Given the description of an element on the screen output the (x, y) to click on. 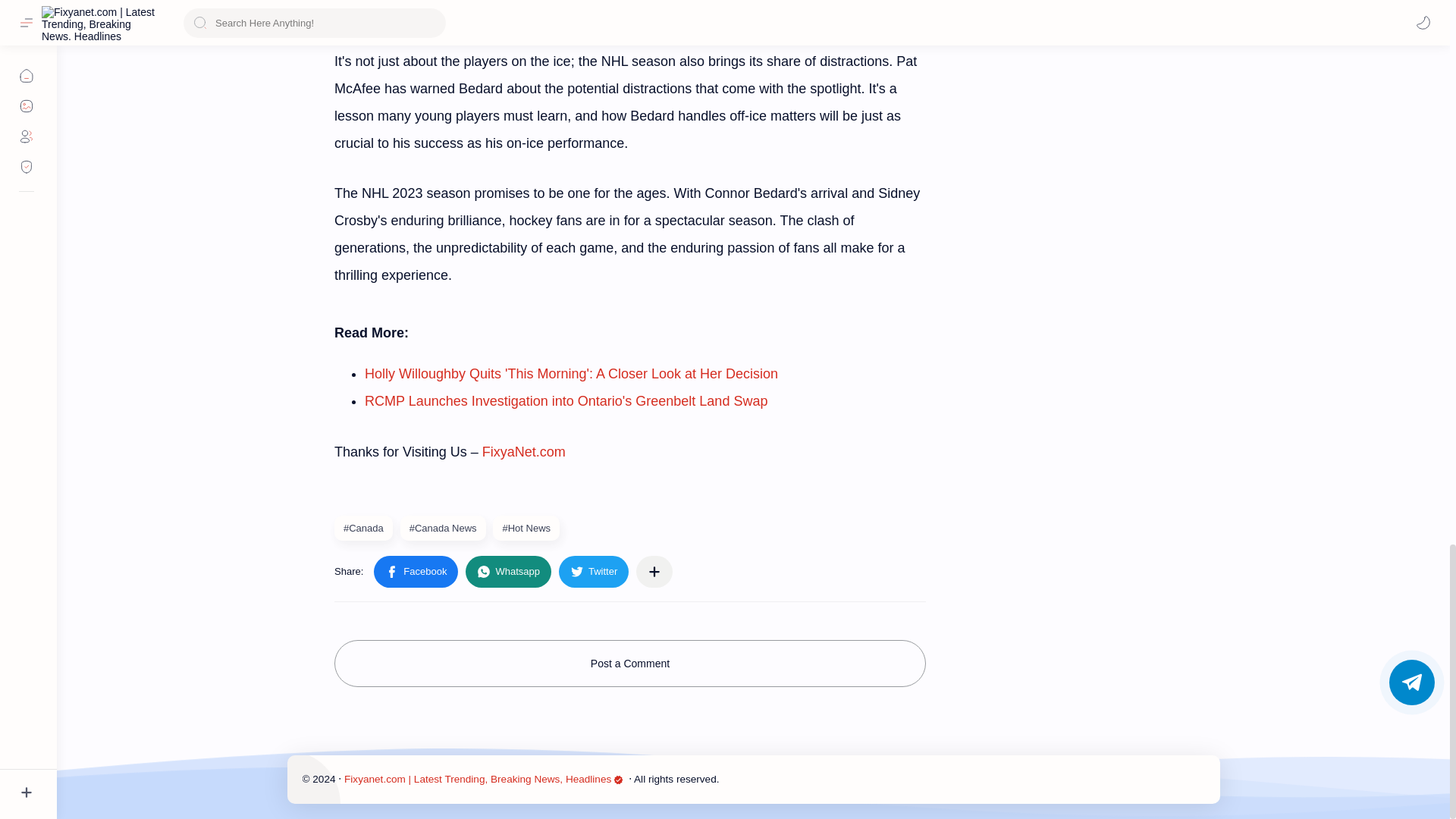
FixyaNet.com (523, 451)
